Given the description of an element on the screen output the (x, y) to click on. 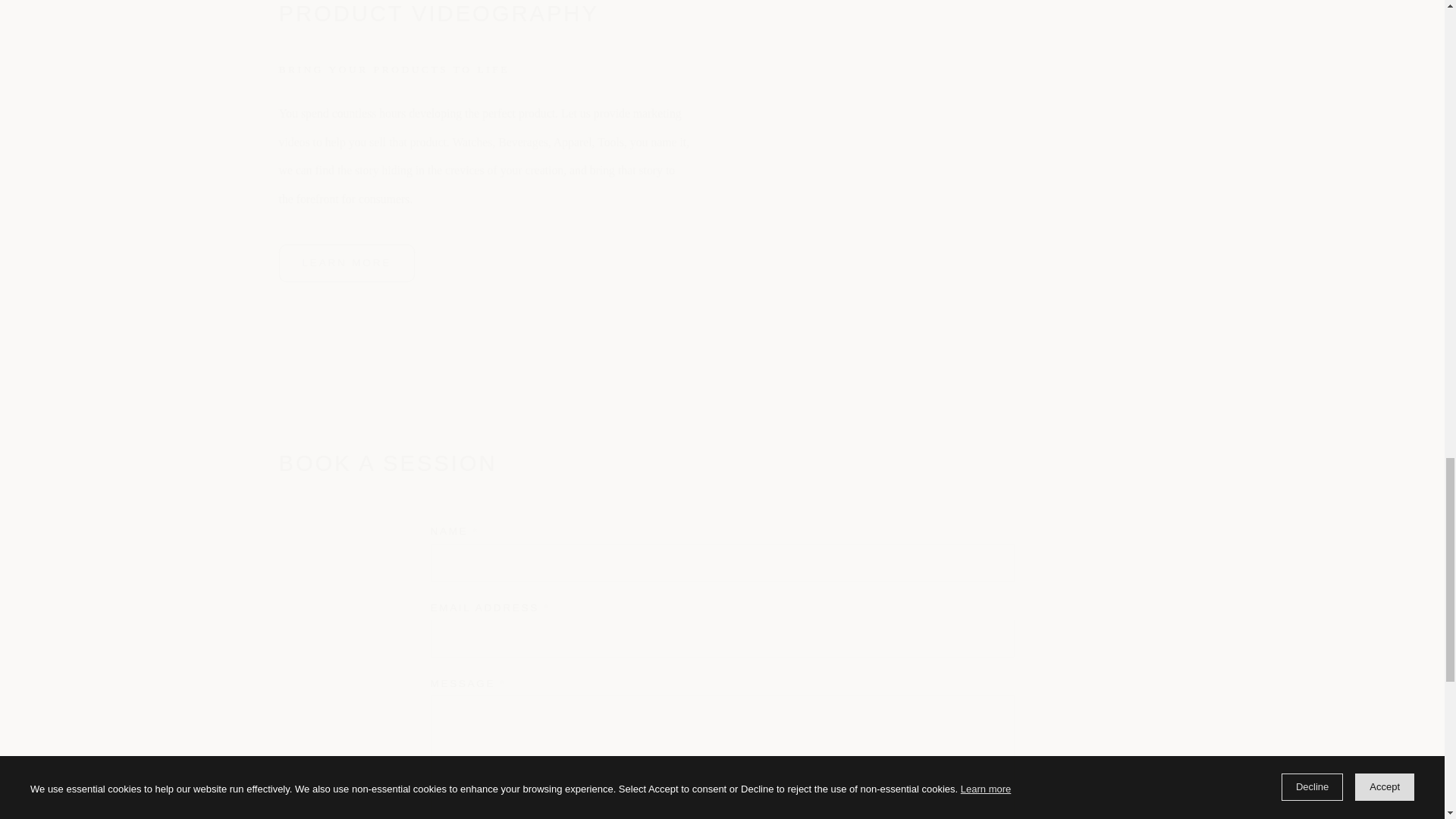
LEARN MORE (346, 262)
